Given the description of an element on the screen output the (x, y) to click on. 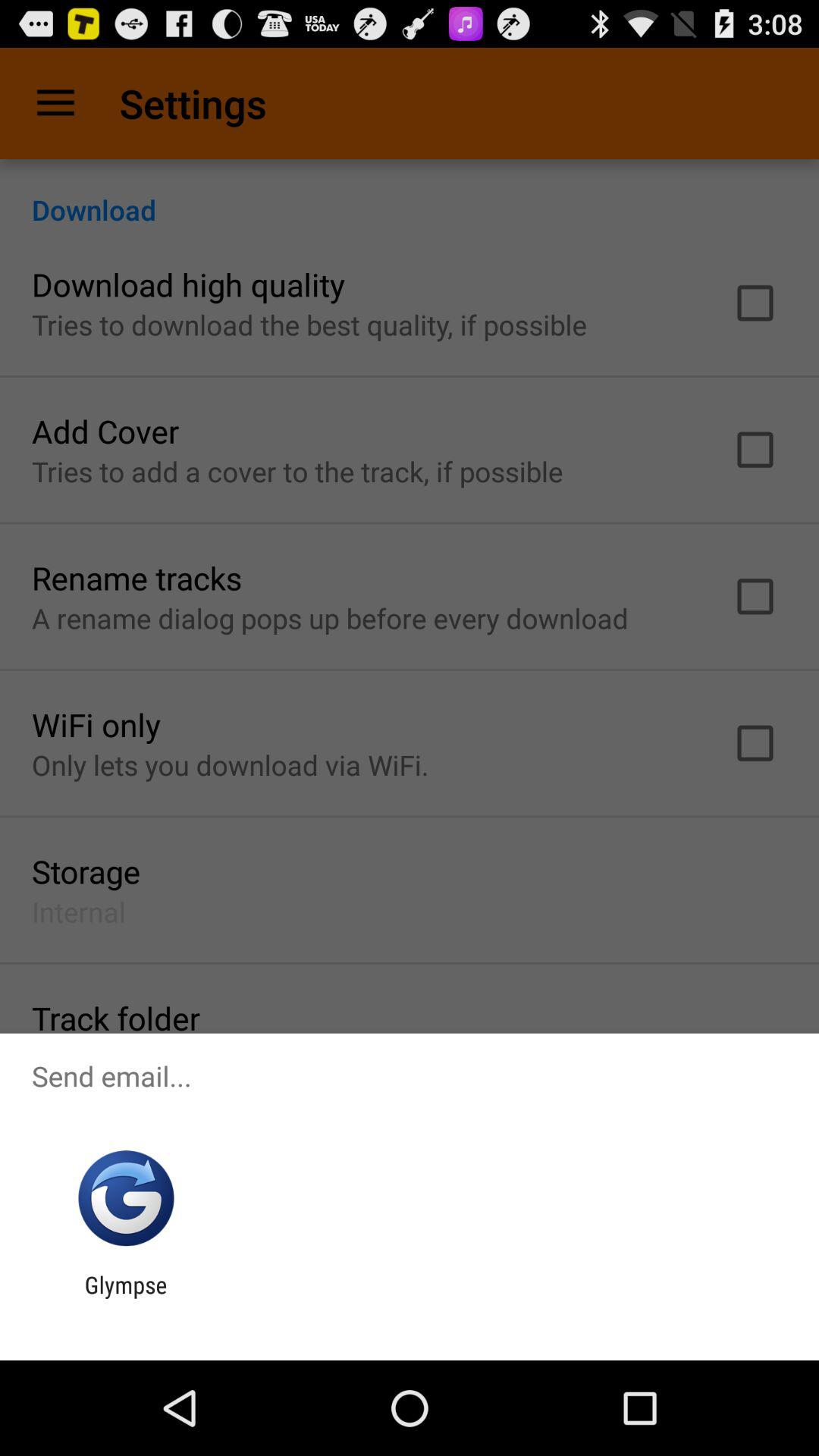
turn off the item above glympse (126, 1198)
